Given the description of an element on the screen output the (x, y) to click on. 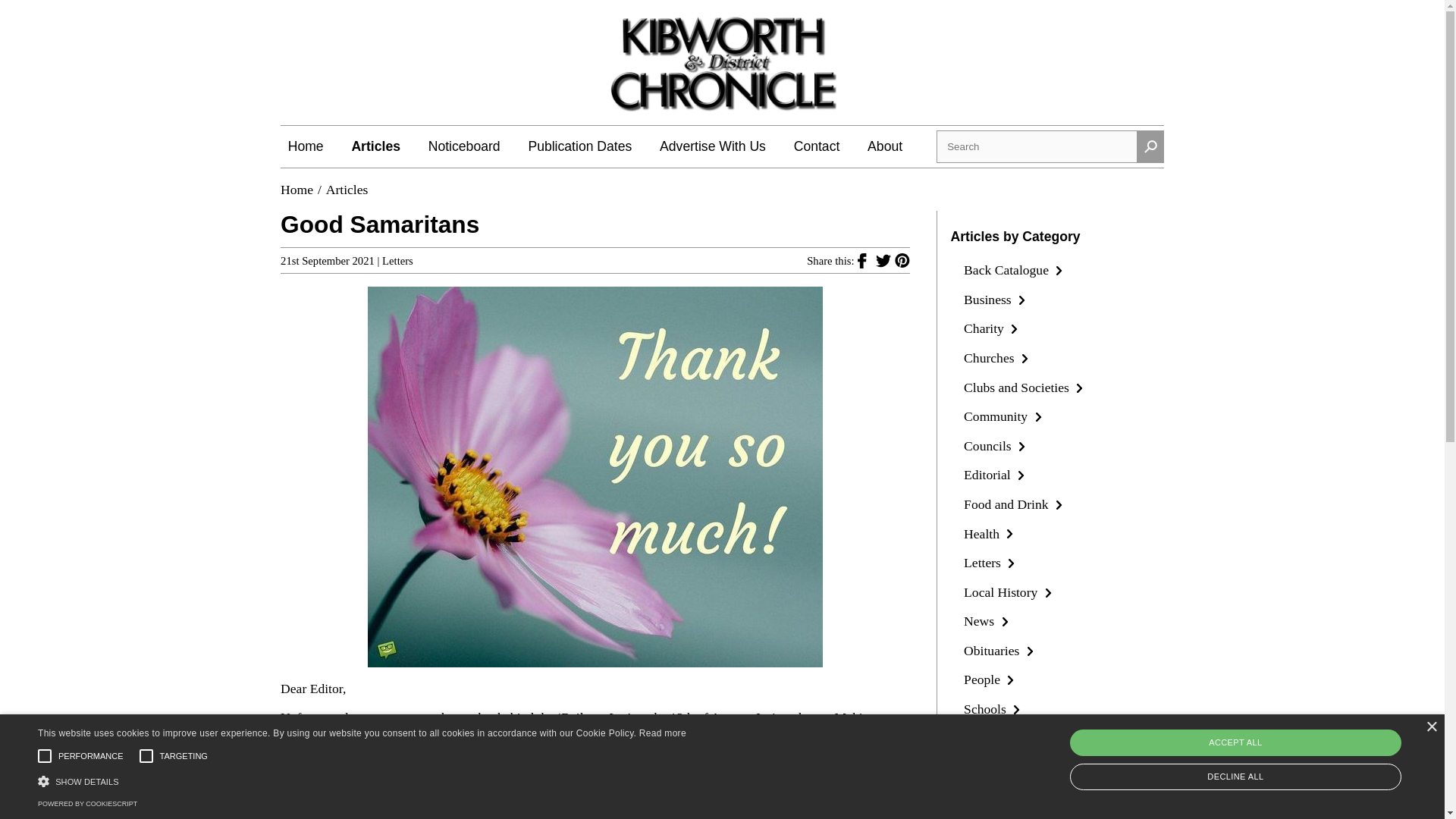
About (884, 145)
Share to Pinterest (902, 259)
Share to Twitter (884, 259)
Local History (1010, 591)
Councils (996, 445)
Publication Dates (579, 145)
Letters (991, 562)
Food and Drink (1015, 503)
Consent Management Platform (86, 803)
Advertise With Us (712, 145)
Share to Facebook (866, 259)
Articles (375, 145)
Letters (397, 260)
Articles (347, 189)
Health (990, 533)
